Given the description of an element on the screen output the (x, y) to click on. 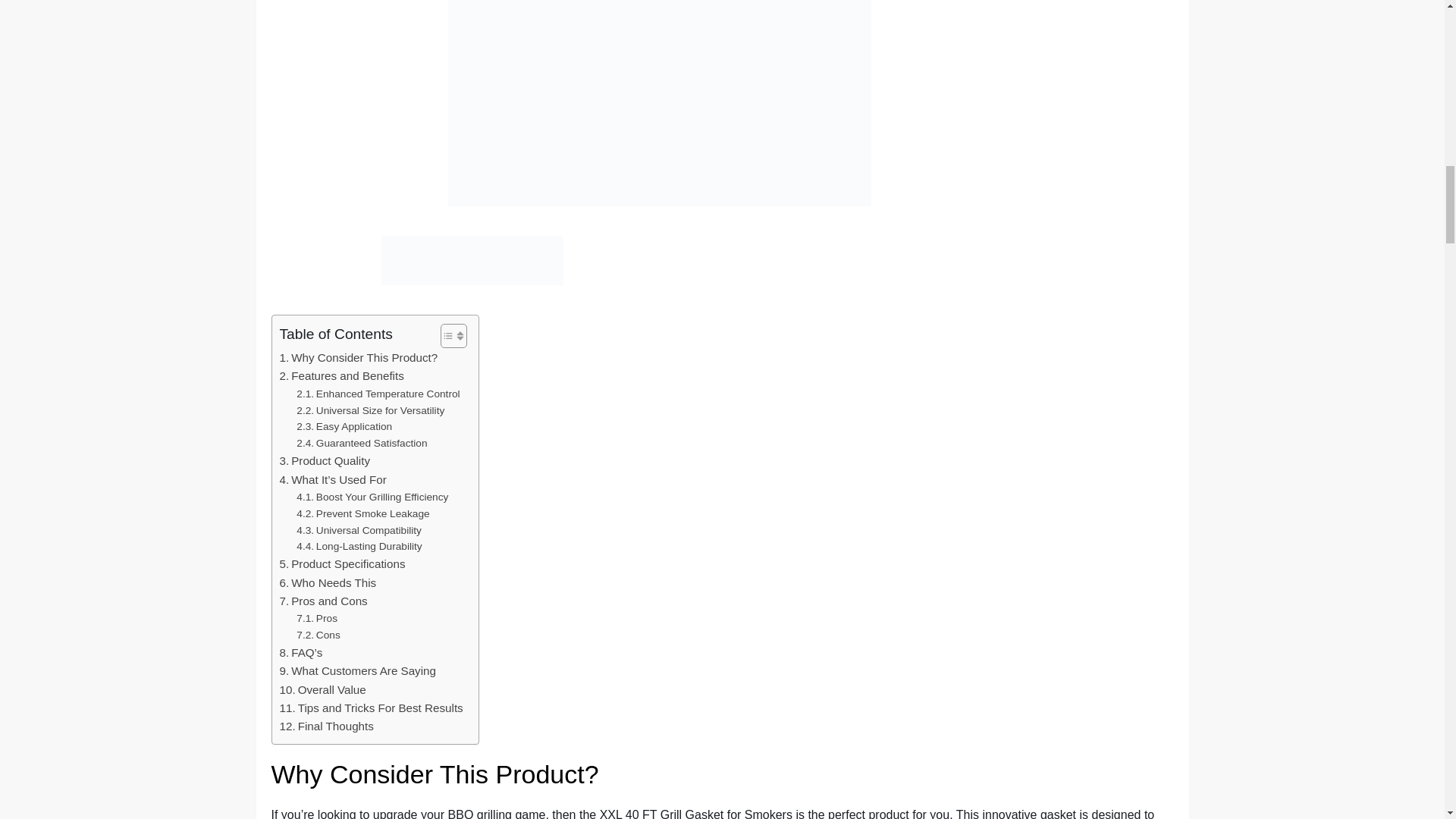
Long-Lasting Durability (359, 546)
Easy Application (344, 426)
Prevent Smoke Leakage (363, 514)
Product Specifications (341, 564)
Why Consider This Product? (358, 357)
Prevent Smoke Leakage (363, 514)
Guaranteed Satisfaction (361, 443)
Boost Your Grilling Efficiency (372, 497)
Enhanced Temperature Control (378, 393)
Universal Size for Versatility (370, 410)
